Given the description of an element on the screen output the (x, y) to click on. 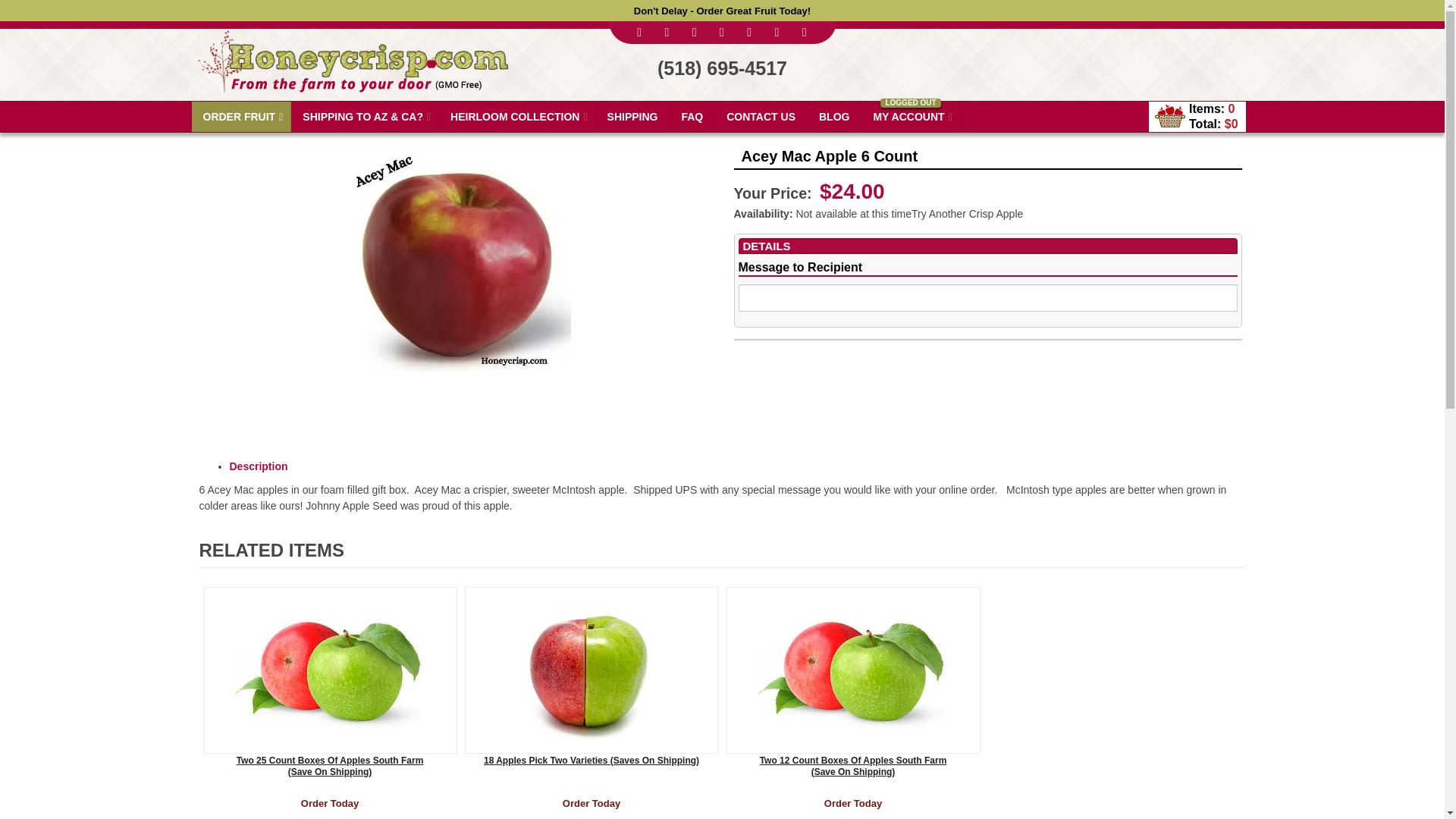
Shopping Cart (1169, 115)
Subscribe to our Channel (694, 31)
Acey Mac Apple  (457, 257)
Don't Delay - Order Great Fruit Today! (721, 10)
Follow Us on Instagram (749, 31)
Subscribe to our Blog (804, 31)
Follow Us on Pinterest (721, 31)
ORDER FRUIT (240, 116)
Honeycrisp Home (351, 55)
Follow Us on Tumblr (777, 31)
Follow Us on Twitter (667, 31)
Like Us on Facebook (639, 31)
